Given the description of an element on the screen output the (x, y) to click on. 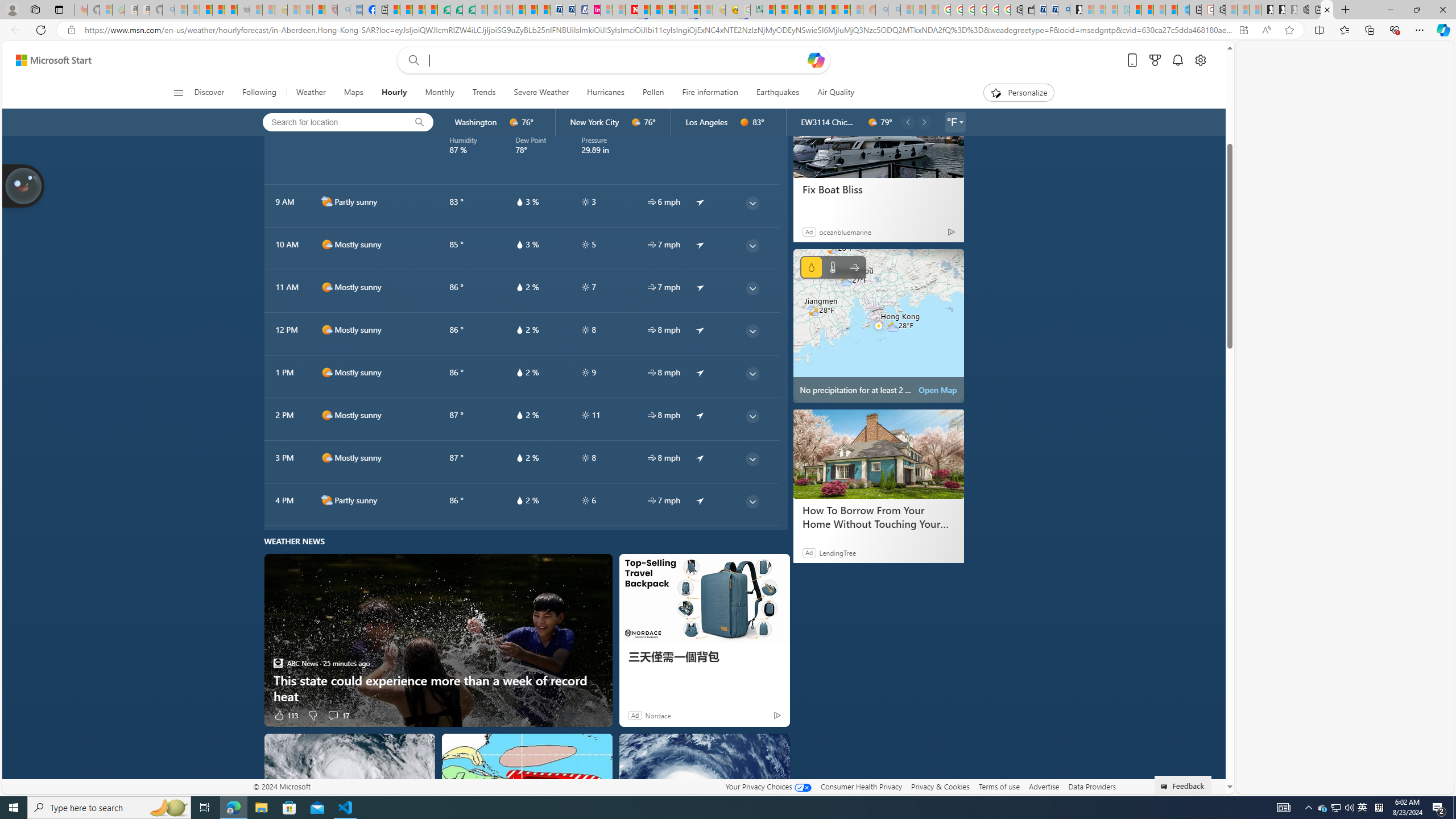
Temperature (832, 267)
App available. Install Microsoft Start Weather (1243, 29)
Your Privacy Choices (767, 785)
View comments 17 Comment (337, 714)
No precipitation for at least 2 hours (878, 325)
d0000 (744, 121)
Fire information (709, 92)
Trends (484, 92)
